Given the description of an element on the screen output the (x, y) to click on. 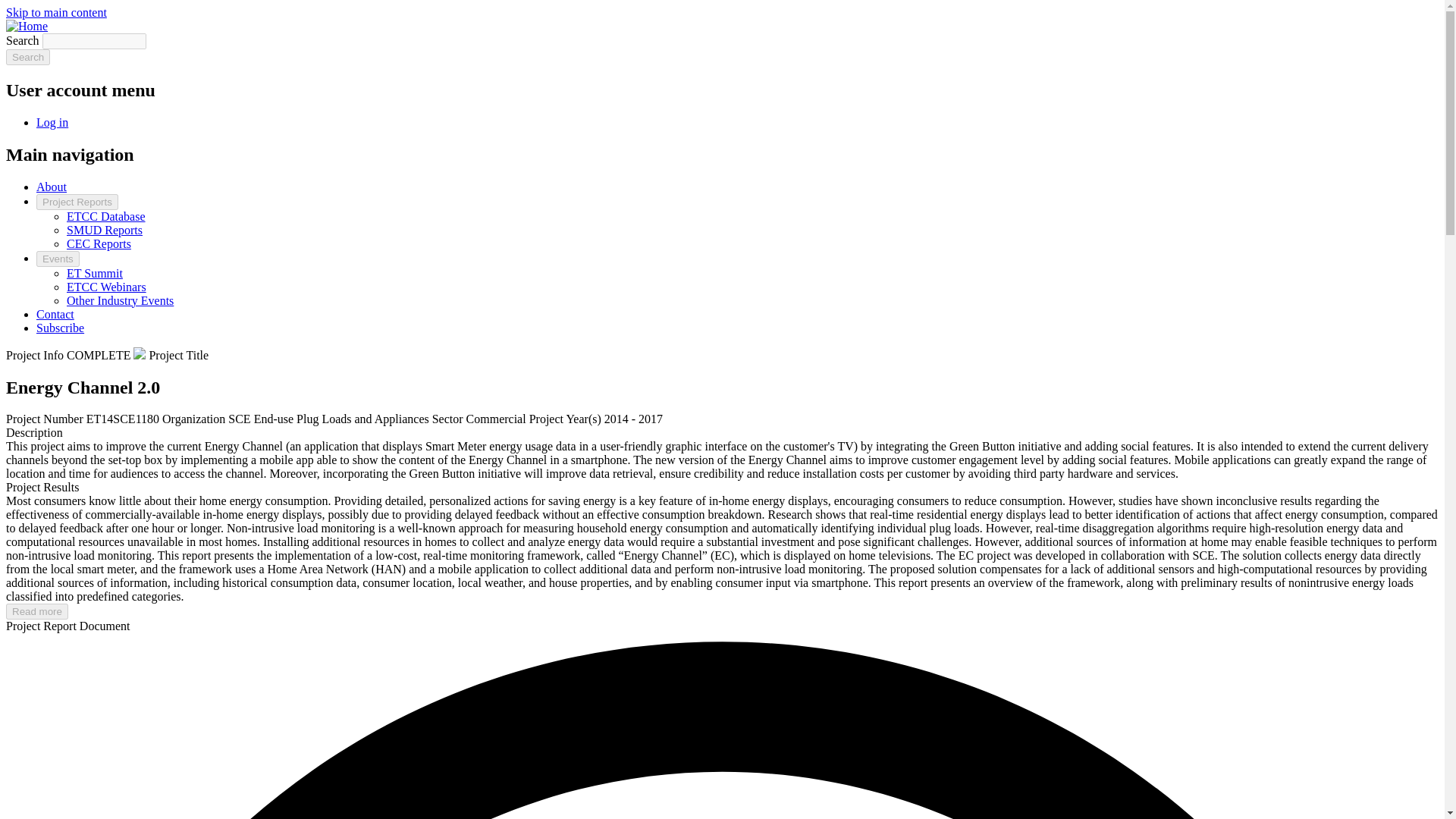
Enter the terms you wish to search for. (94, 41)
About (51, 186)
Events (58, 258)
ETCC Webinars (106, 286)
SMUD Reports (104, 229)
Log in (52, 122)
Search (27, 57)
Other Industry Events (119, 300)
CEC Reports (98, 243)
Contact (55, 314)
